Given the description of an element on the screen output the (x, y) to click on. 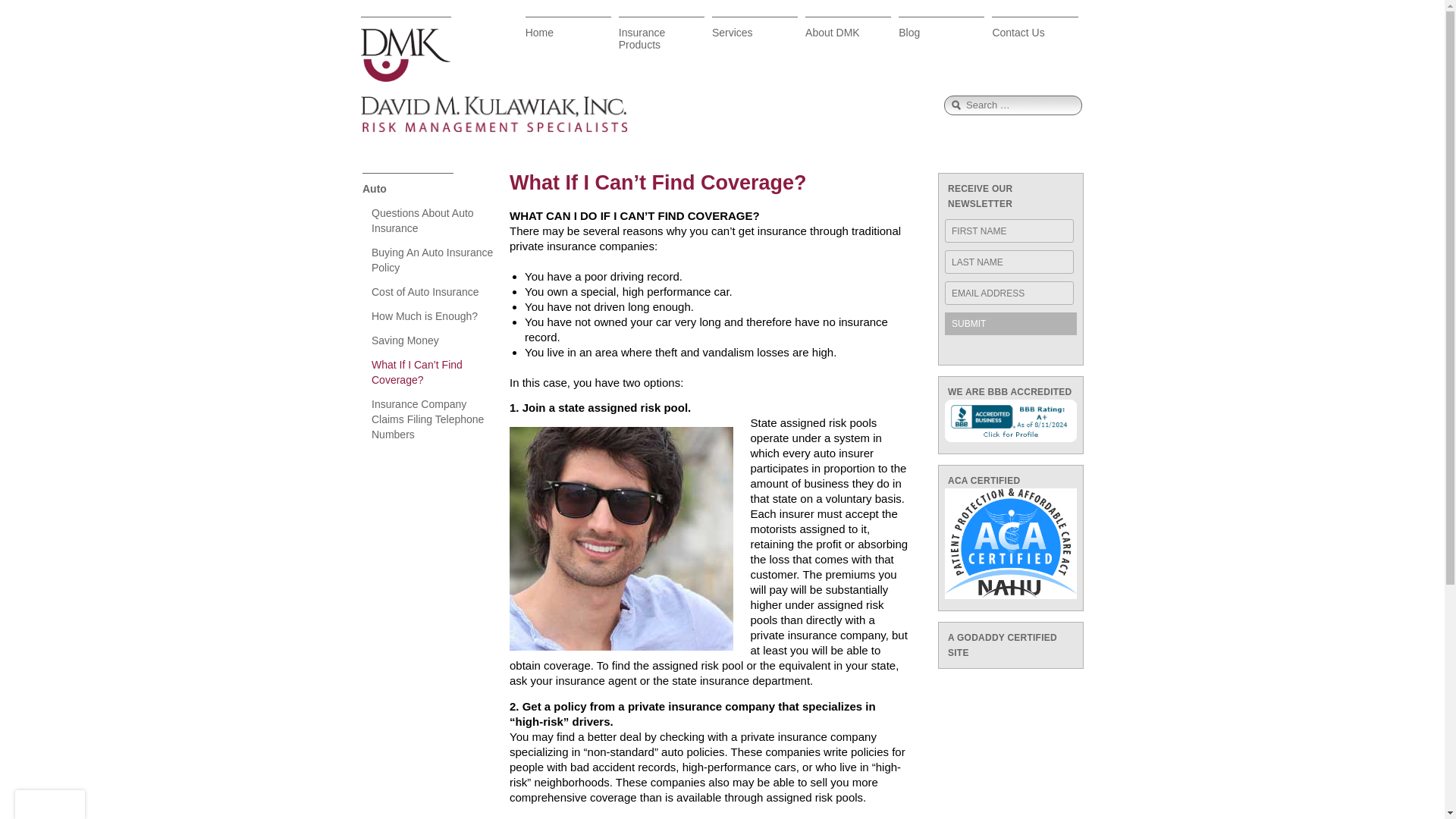
SUBMIT (1010, 323)
TrustedSite Certified (49, 804)
Home (568, 37)
Insurance Products (661, 37)
